Given the description of an element on the screen output the (x, y) to click on. 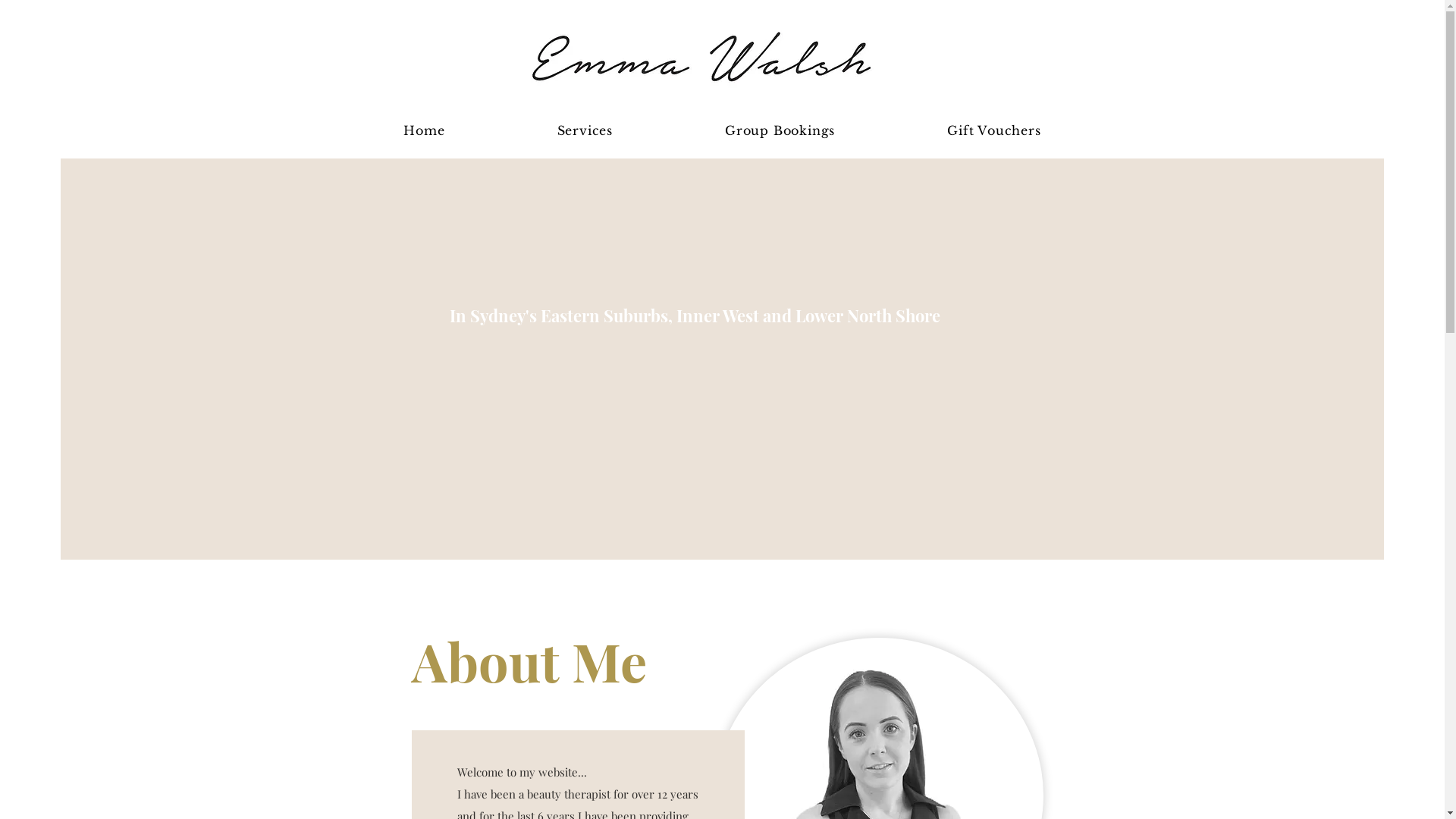
Home Element type: text (423, 130)
Services Element type: text (584, 130)
Gift Vouchers Element type: text (993, 130)
Group Bookings Element type: text (779, 130)
